Given the description of an element on the screen output the (x, y) to click on. 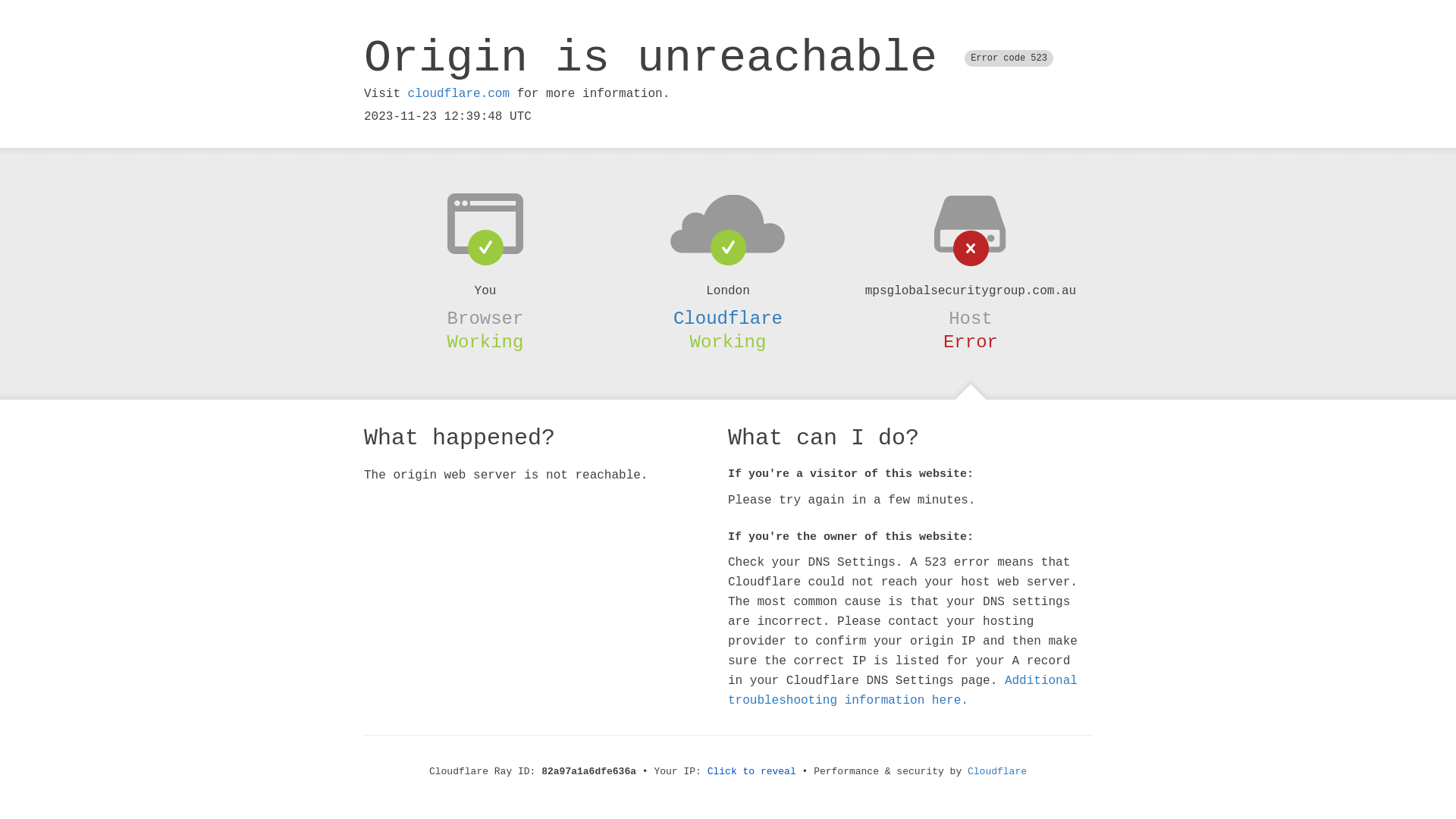
Additional troubleshooting information here. Element type: text (902, 690)
Click to reveal Element type: text (751, 771)
cloudflare.com Element type: text (458, 93)
Cloudflare Element type: text (727, 318)
Cloudflare Element type: text (996, 771)
